Given the description of an element on the screen output the (x, y) to click on. 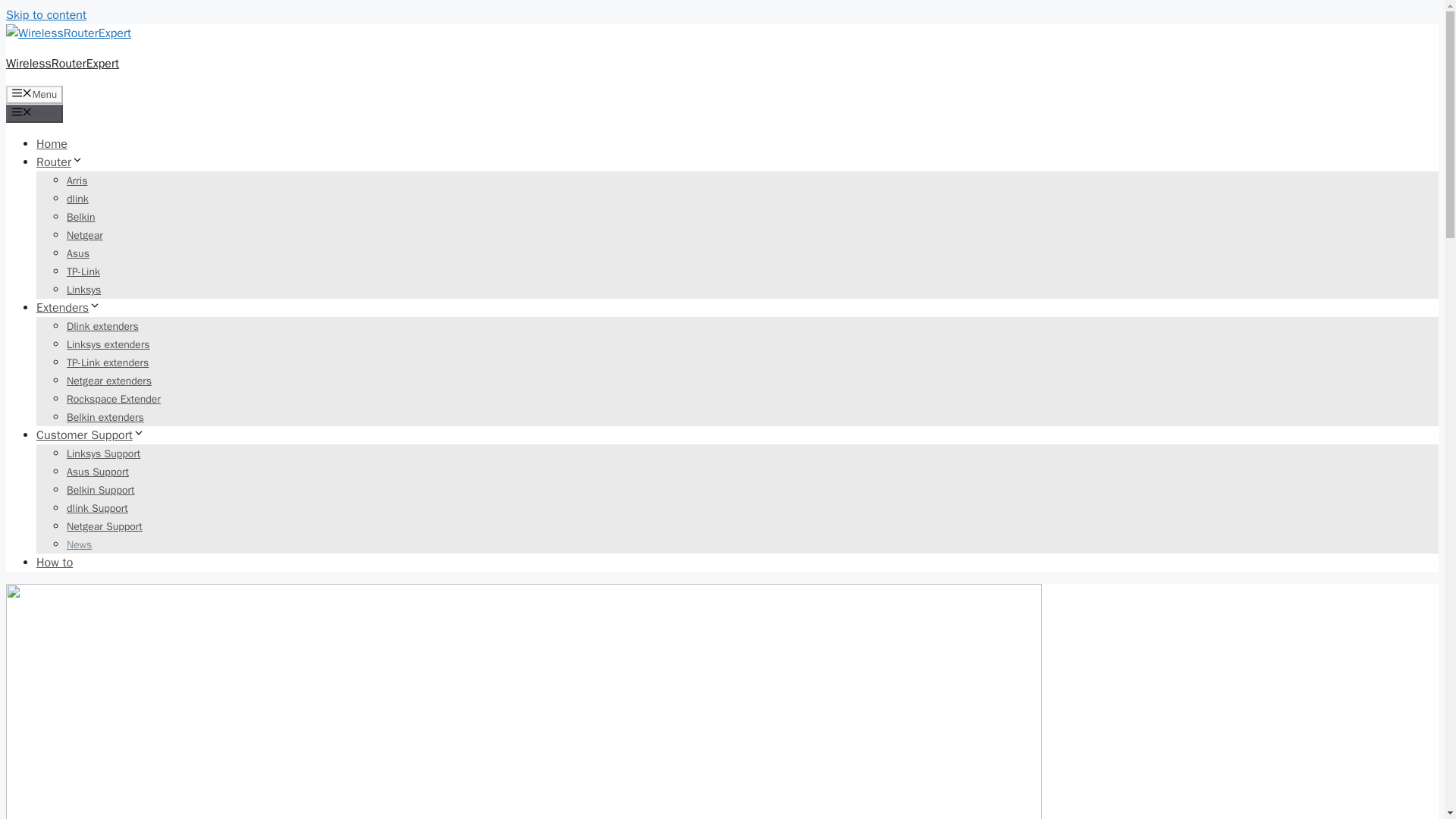
Skip to content (45, 14)
Linksys (83, 289)
Asus Support (97, 472)
Netgear (84, 235)
Router (59, 161)
Arris (76, 180)
Asus (77, 253)
Netgear extenders (108, 380)
Extenders (68, 307)
Netgear Support (104, 526)
